Given the description of an element on the screen output the (x, y) to click on. 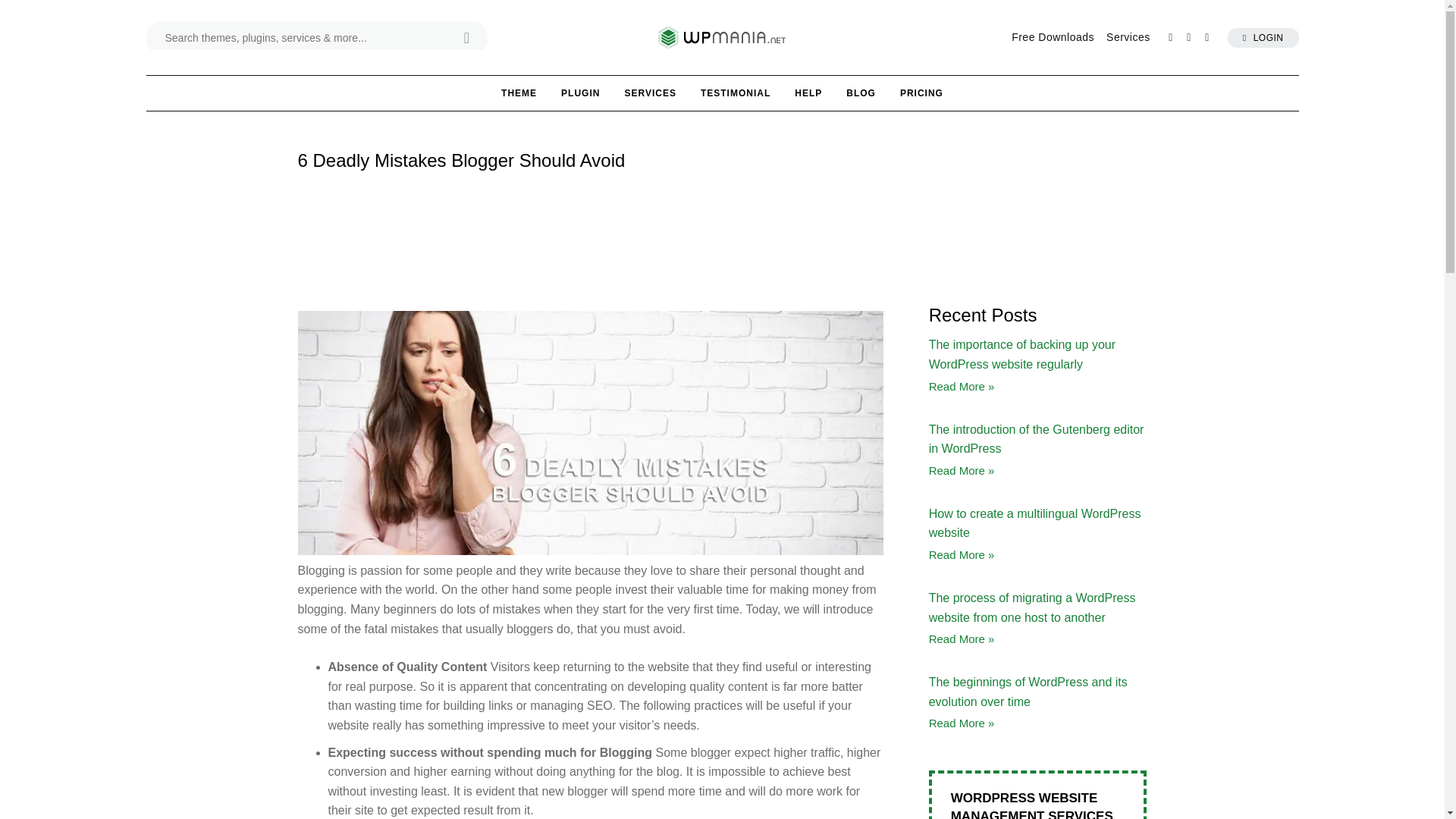
THEME (518, 93)
BLOG (860, 93)
PRICING (921, 93)
SERVICES (650, 93)
LOGIN (1262, 36)
TESTIMONIAL (735, 93)
PLUGIN (579, 93)
